Given the description of an element on the screen output the (x, y) to click on. 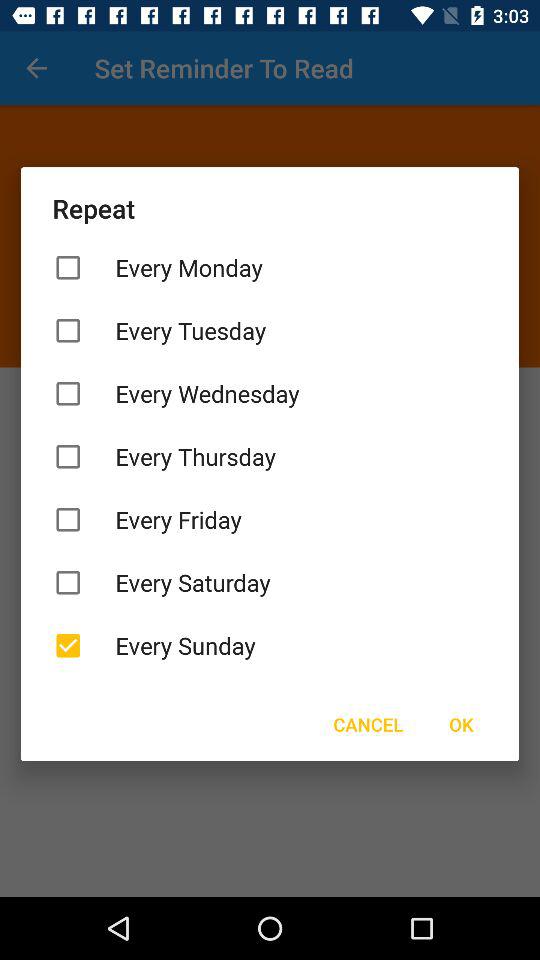
open icon below every thursday item (270, 519)
